Given the description of an element on the screen output the (x, y) to click on. 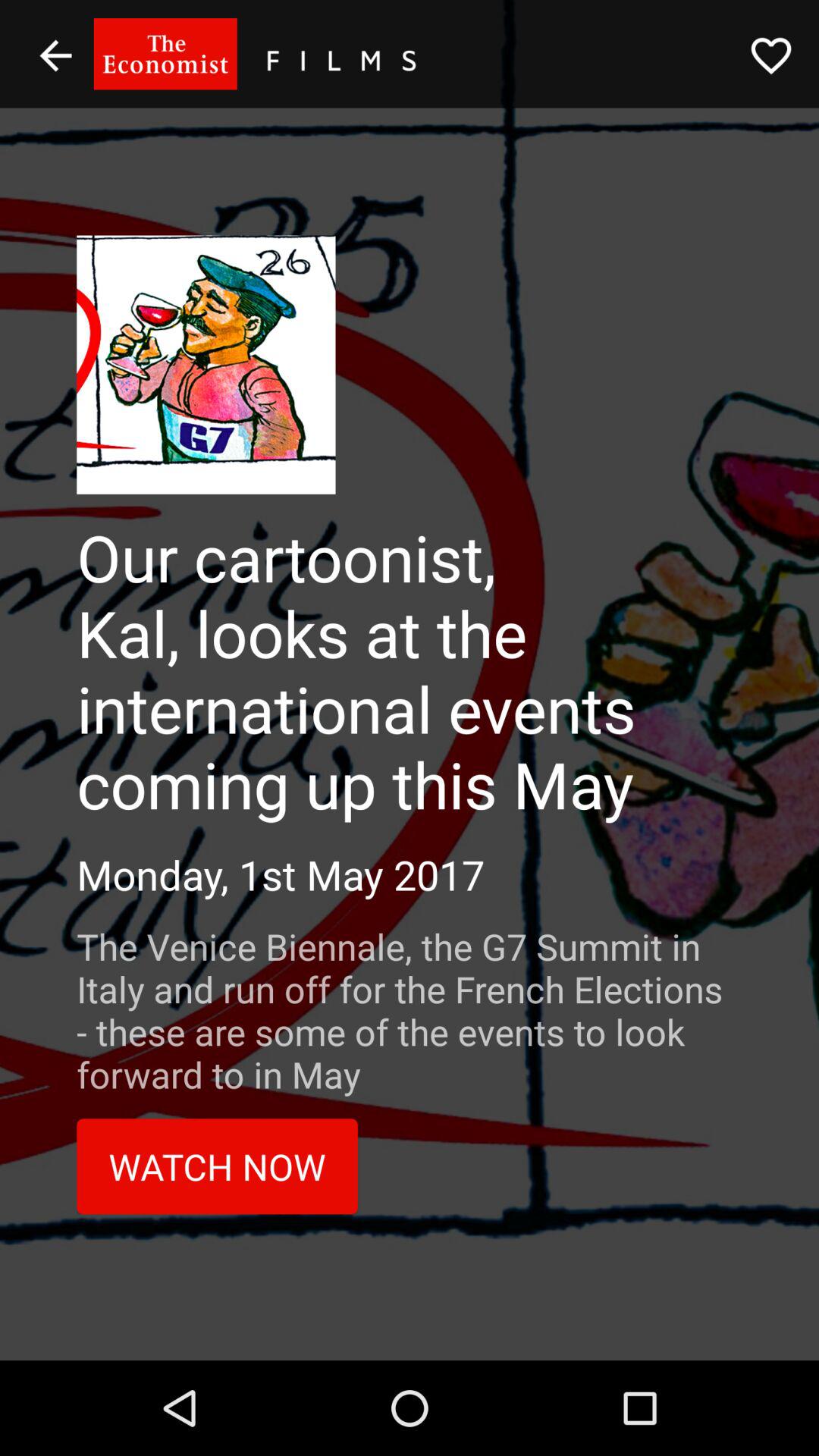
launch the watch now (216, 1166)
